Given the description of an element on the screen output the (x, y) to click on. 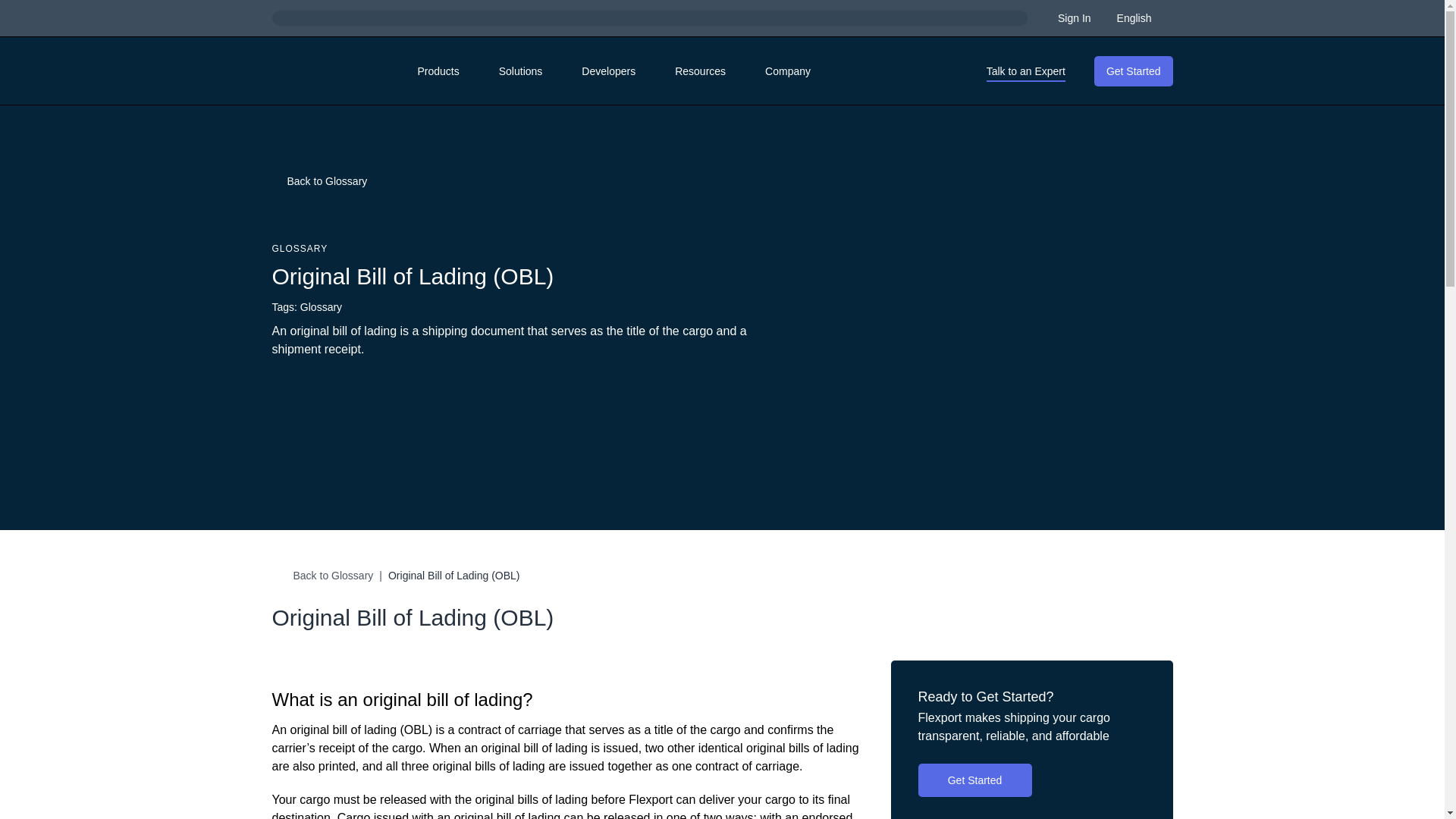
English (1142, 17)
Sign In (1075, 17)
